Given the description of an element on the screen output the (x, y) to click on. 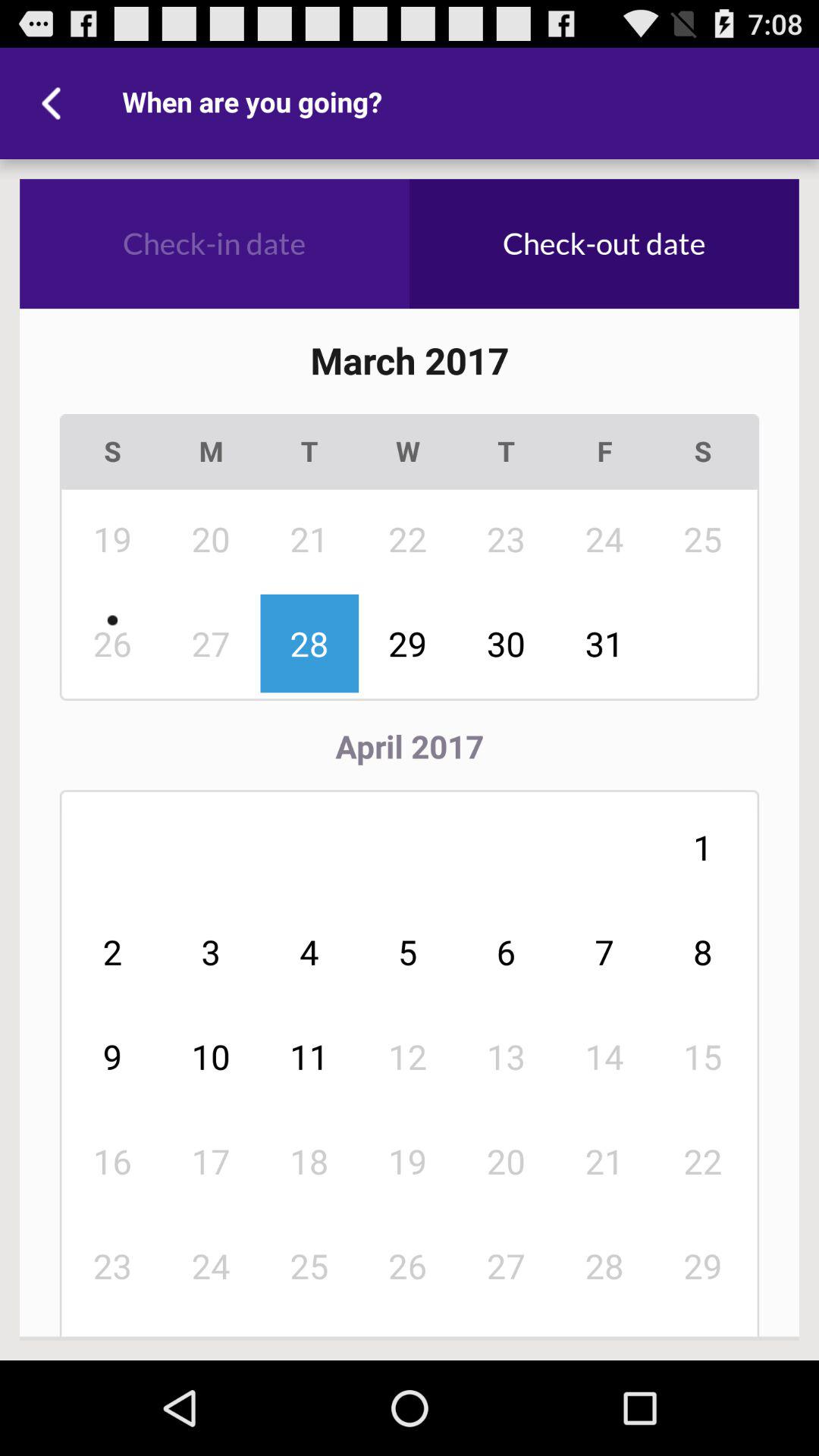
swipe until the m (211, 451)
